Given the description of an element on the screen output the (x, y) to click on. 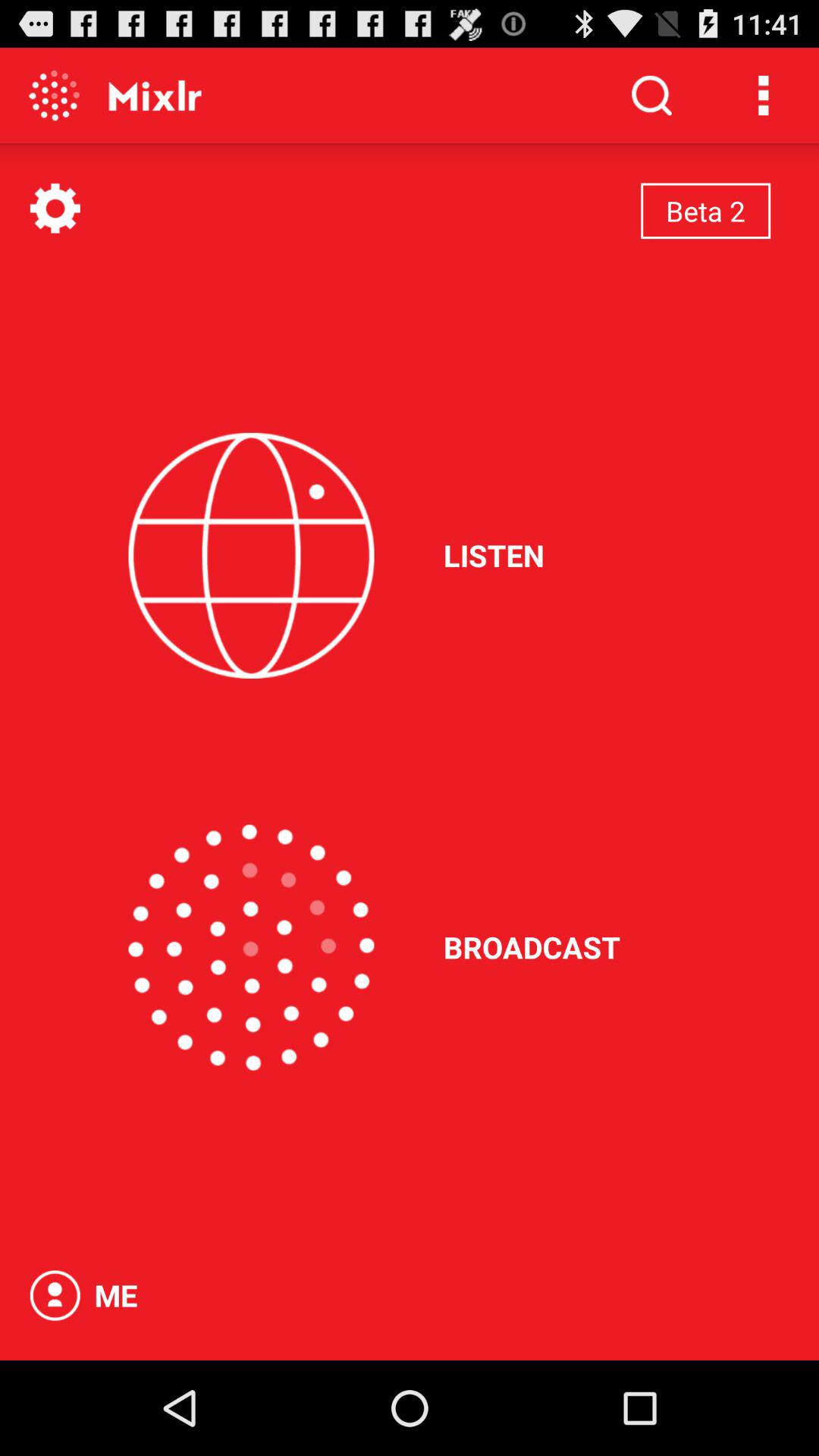
about me (55, 1295)
